Given the description of an element on the screen output the (x, y) to click on. 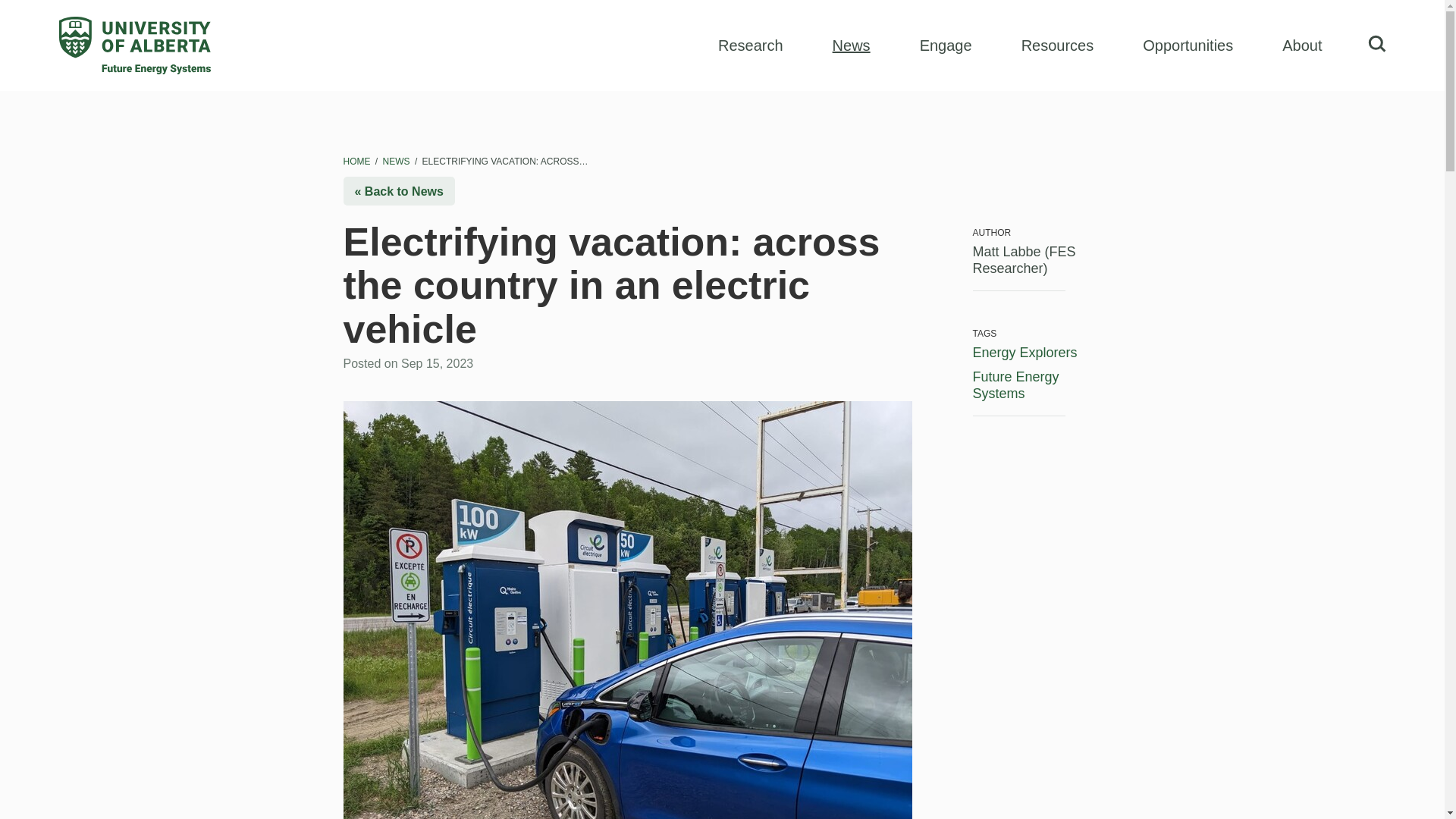
Future Energy Systems (1015, 385)
Future Energy Systems (135, 45)
Energy Explorers (1024, 352)
Back to Blog (398, 190)
News (397, 161)
Research (750, 45)
Home (357, 161)
